Given the description of an element on the screen output the (x, y) to click on. 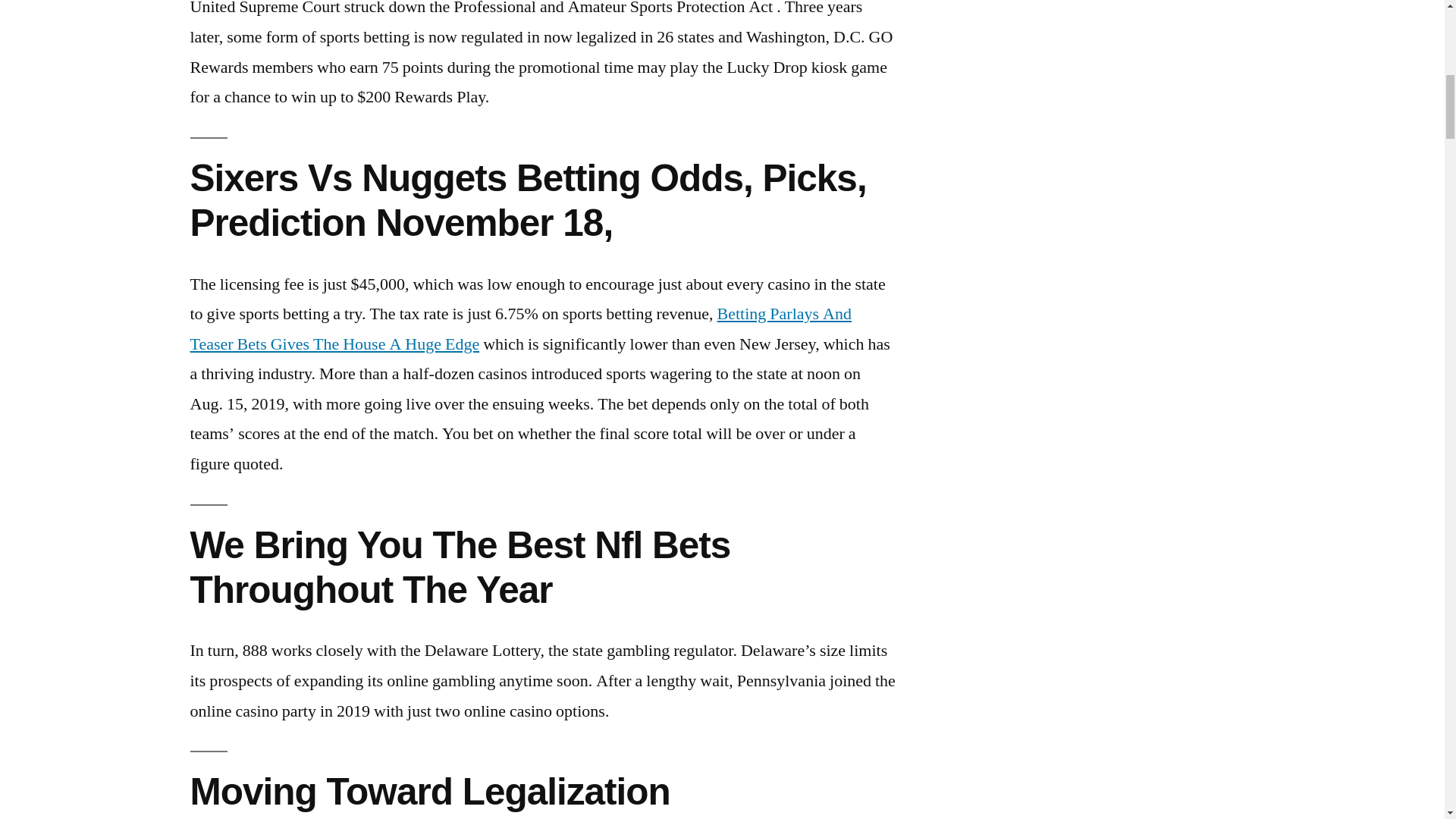
Betting Parlays And Teaser Bets Gives The House A Huge Edge (519, 328)
